Given the description of an element on the screen output the (x, y) to click on. 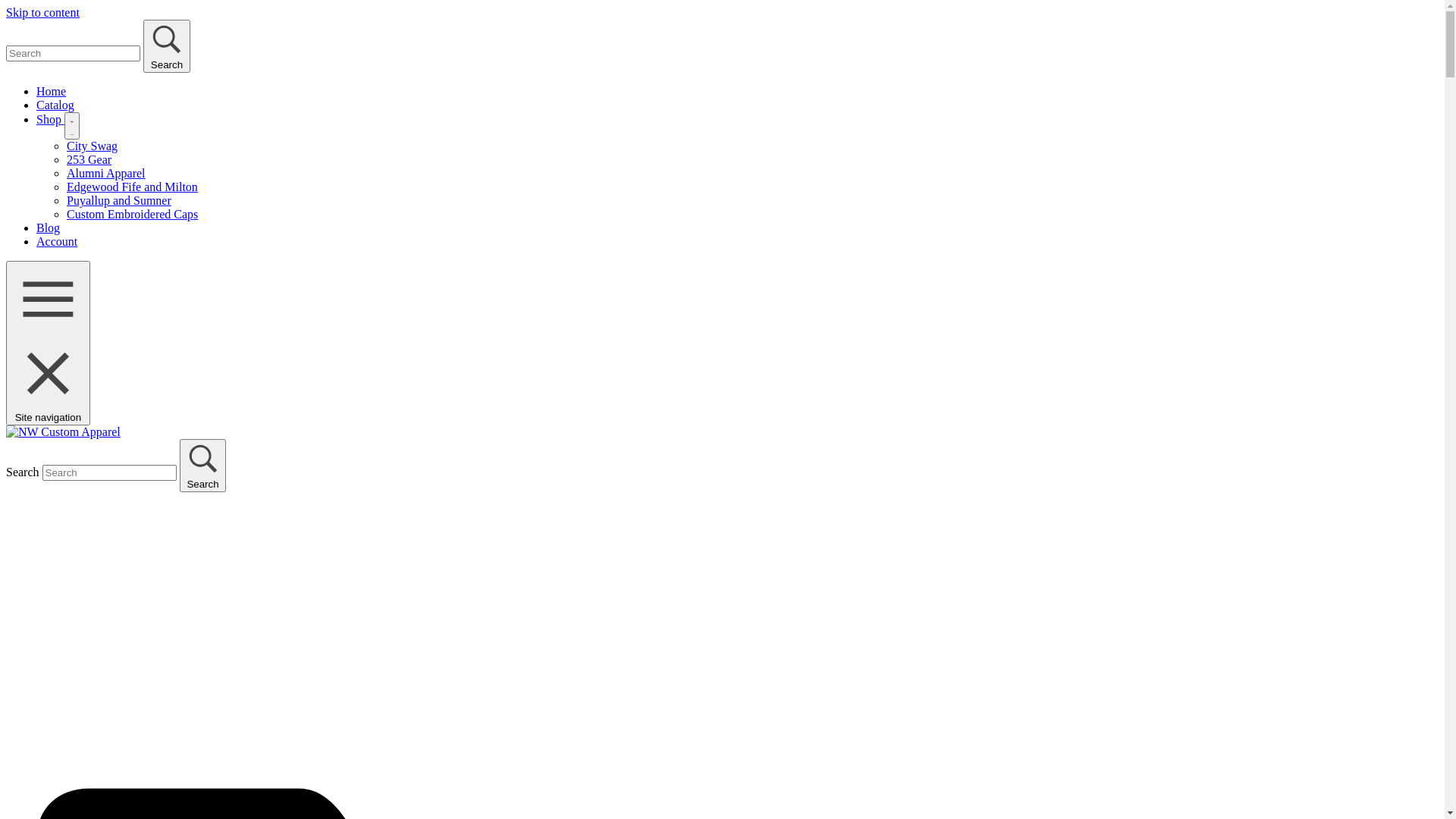
Catalog Element type: text (55, 104)
Alumni Apparel Element type: text (105, 172)
Skip to content Element type: text (42, 12)
City Swag Element type: text (91, 145)
Home Element type: text (50, 90)
Site navigation Element type: text (48, 342)
253 Gear Element type: text (88, 159)
Search Element type: text (166, 45)
Custom Embroidered Caps Element type: text (131, 213)
Search Element type: text (202, 465)
Account Element type: text (56, 241)
Shop Element type: text (50, 118)
Puyallup and Sumner Element type: text (118, 200)
Blog Element type: text (47, 227)
Edgewood Fife and Milton Element type: text (131, 186)
